Given the description of an element on the screen output the (x, y) to click on. 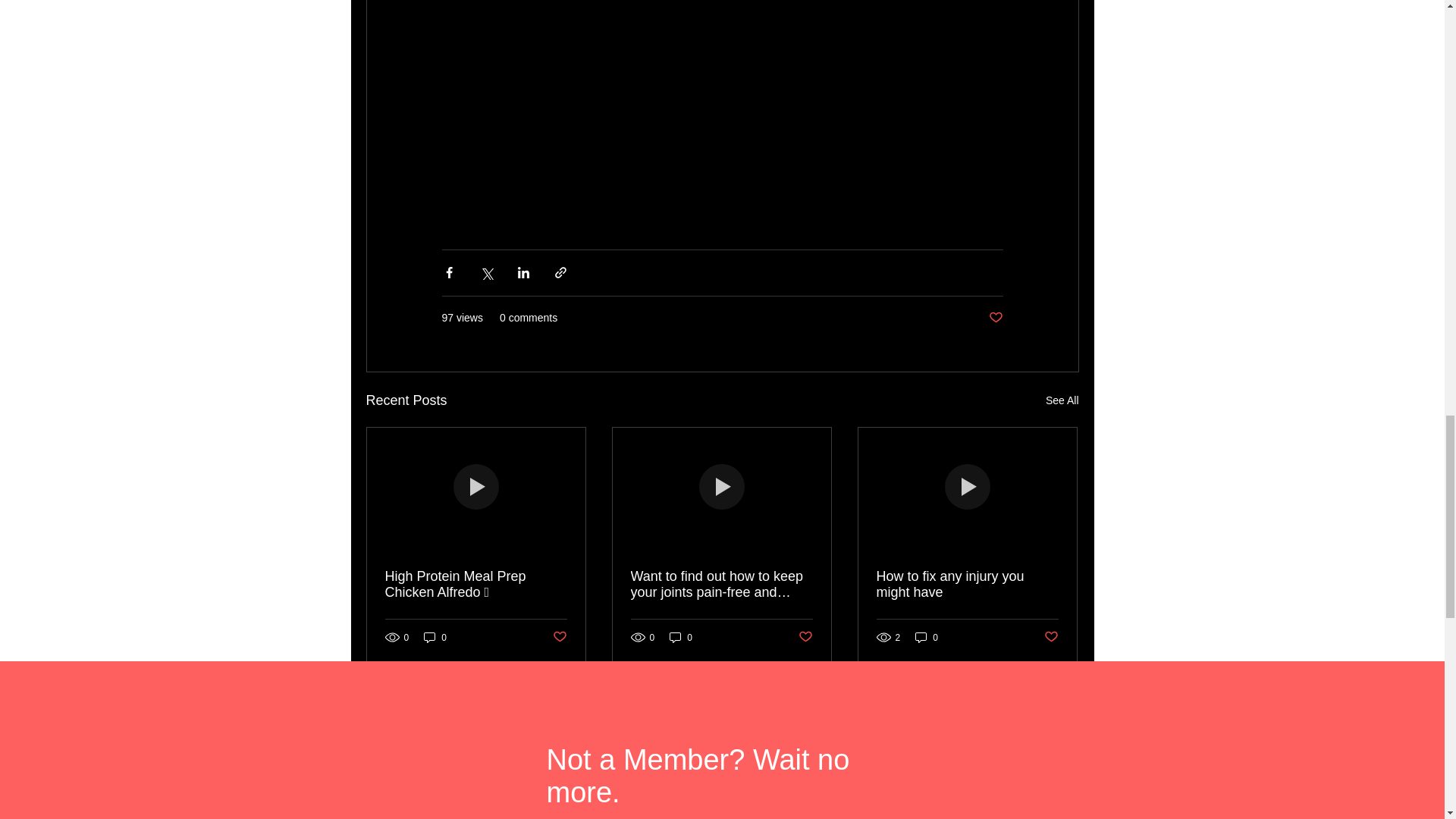
Post not marked as liked (1050, 637)
0 (435, 636)
0 (926, 636)
How to fix any injury you might have (967, 584)
Post not marked as liked (558, 637)
Post not marked as liked (995, 317)
See All (1061, 400)
Post not marked as liked (804, 637)
0 (681, 636)
